Given the description of an element on the screen output the (x, y) to click on. 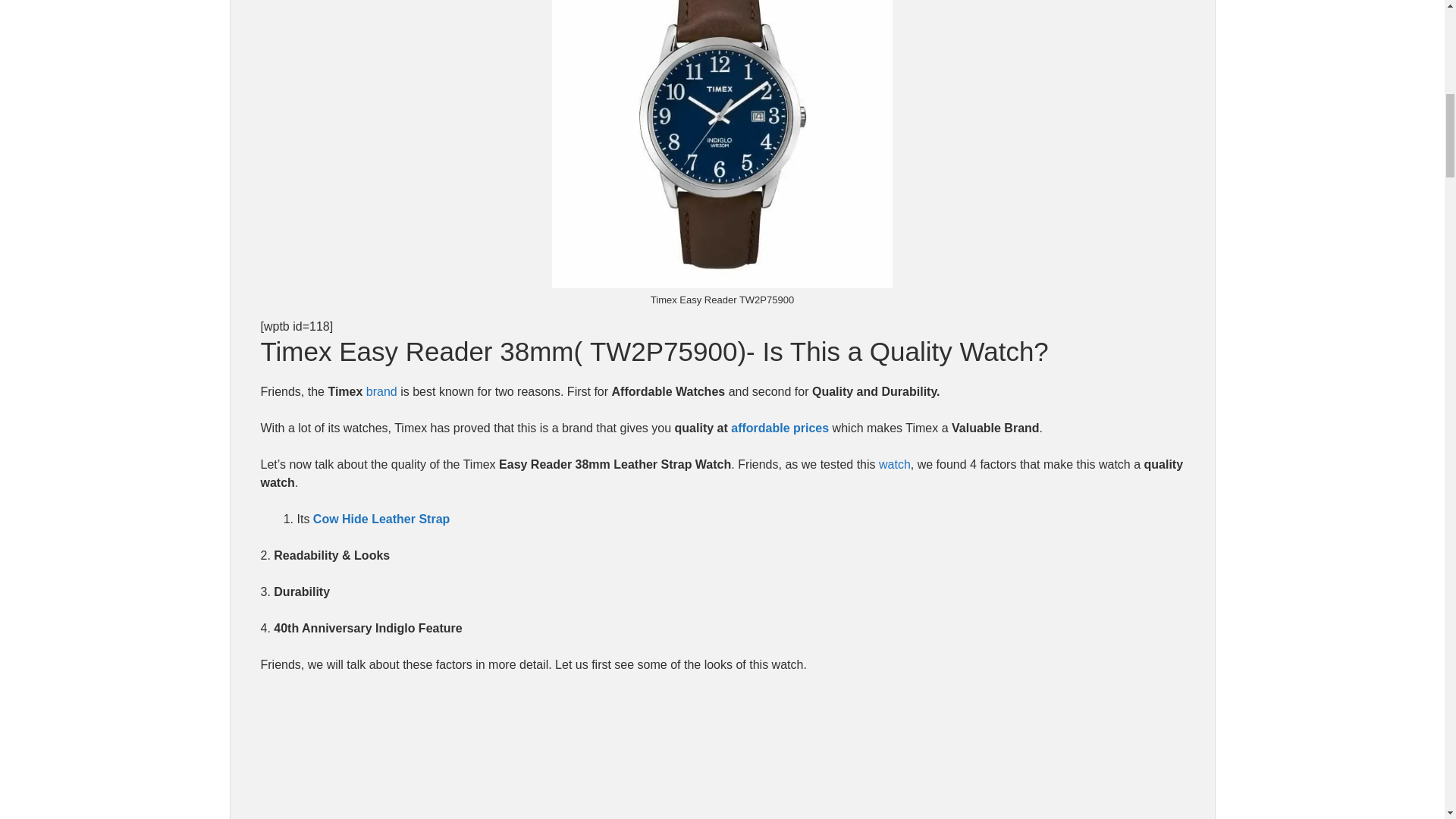
brand (381, 391)
